Given the description of an element on the screen output the (x, y) to click on. 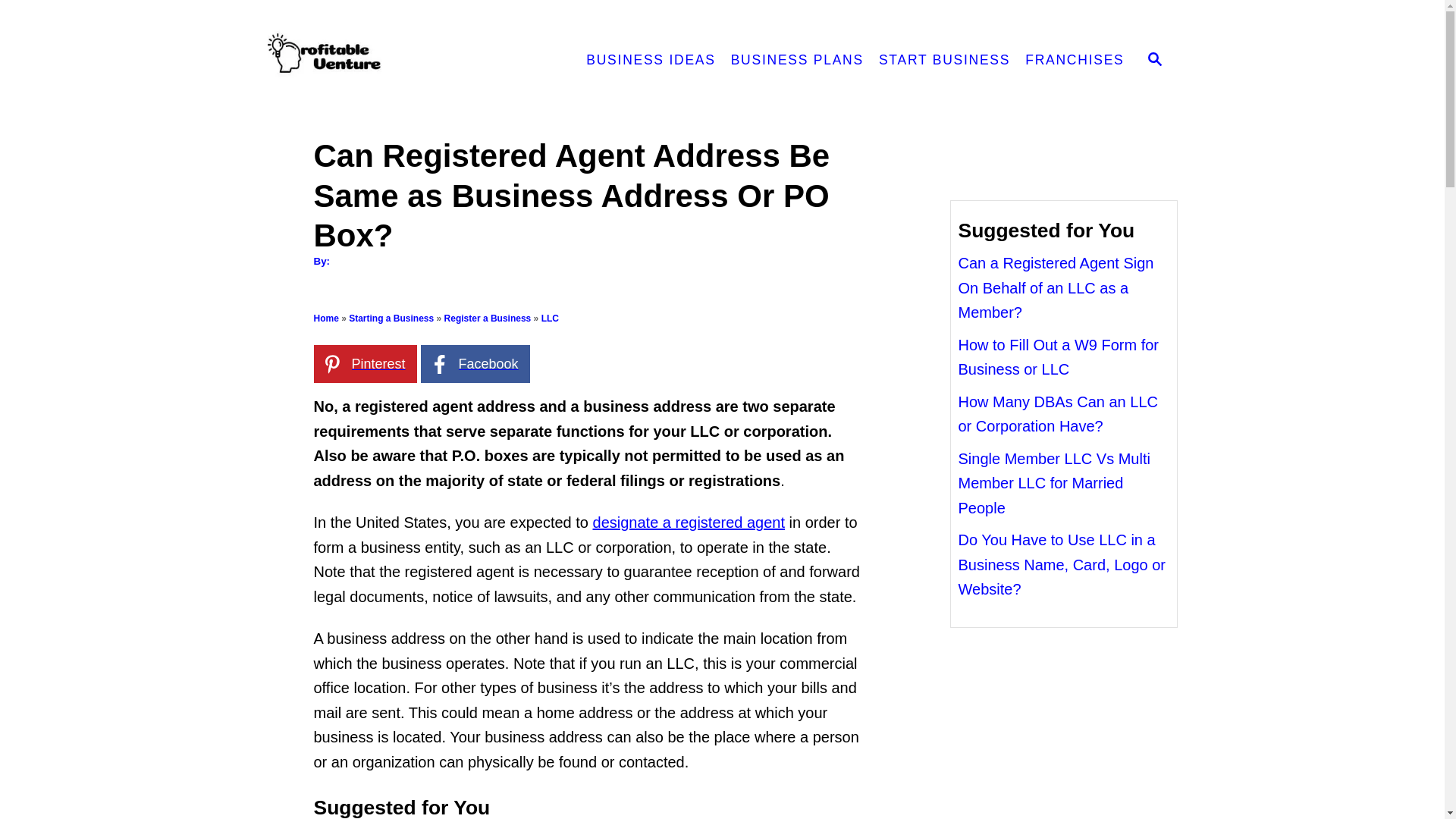
ProfitableVenture (400, 60)
Can a Registered Agent Sign On Behalf of an LLC as a Member? (1056, 287)
SEARCH (1154, 60)
BUSINESS IDEAS (650, 60)
Single Member LLC Vs Multi Member LLC for Married People (1054, 483)
Home (326, 317)
How Many DBAs Can an LLC or Corporation Have? (1057, 413)
Can a Registered Agent Sign On Behalf of an LLC as a Member? (1056, 287)
Register a Business (487, 317)
Facebook (474, 363)
START BUSINESS (943, 60)
How to Fill Out a W9 Form for Business or LLC (1058, 357)
Starting a Business (391, 317)
How Many DBAs Can an LLC or Corporation Have? (1057, 413)
